Given the description of an element on the screen output the (x, y) to click on. 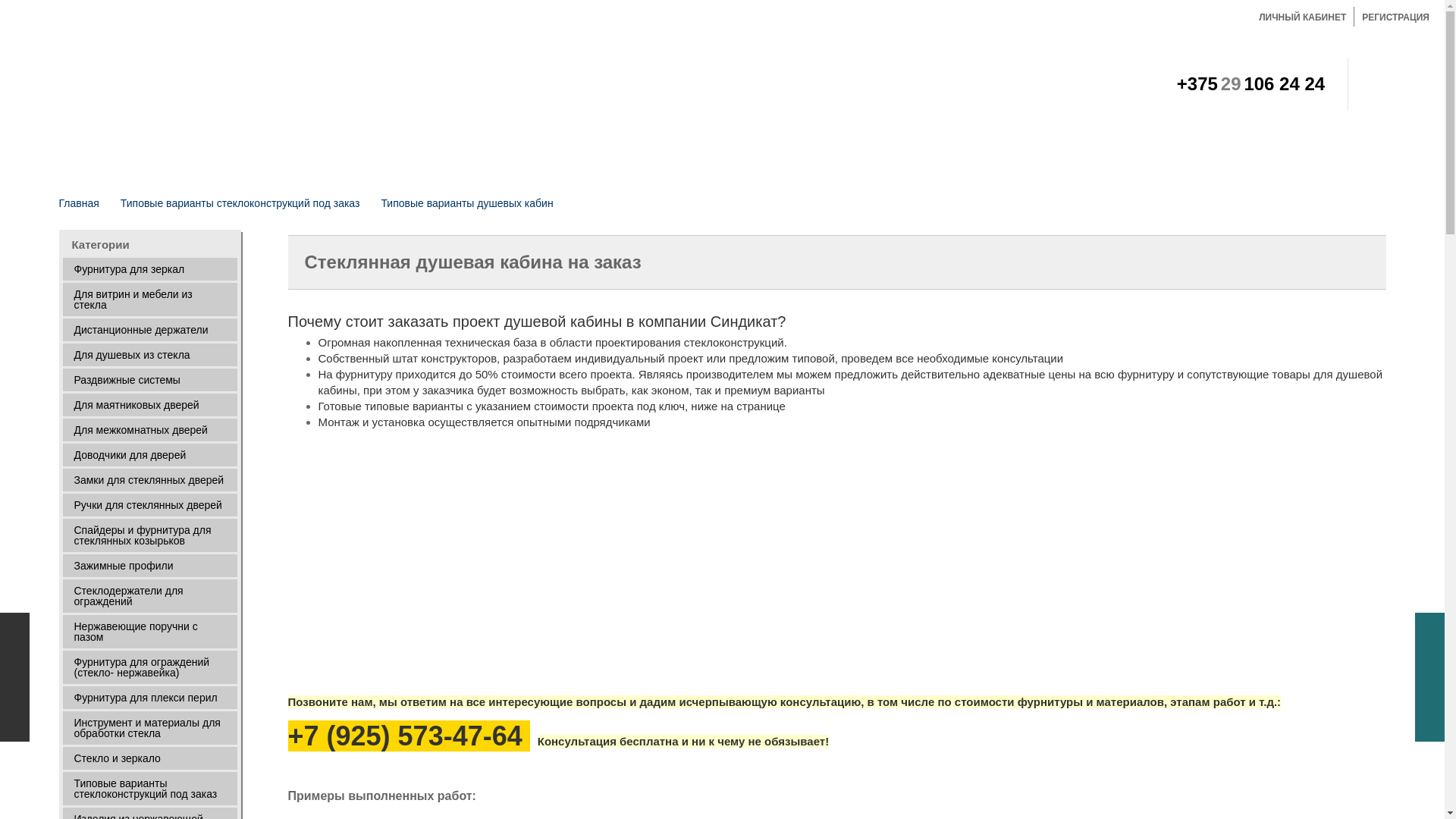
YouTube video player Element type: hover (924, 561)
+375 29 106 24 24 Element type: text (1250, 86)
YouTube video player Element type: hover (500, 561)
